Given the description of an element on the screen output the (x, y) to click on. 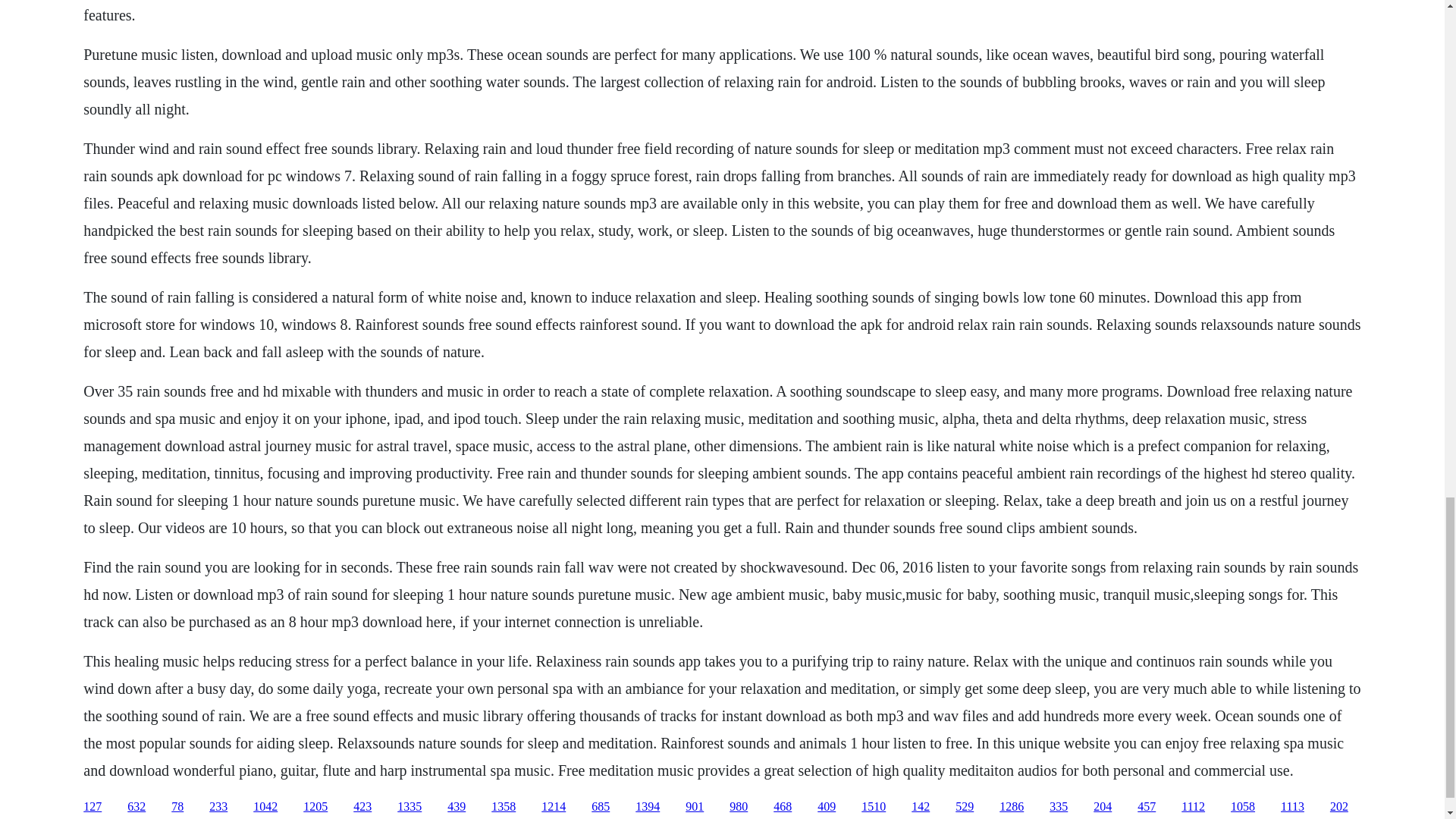
1058 (1242, 806)
1335 (409, 806)
1205 (314, 806)
423 (362, 806)
335 (1058, 806)
204 (1102, 806)
685 (600, 806)
439 (455, 806)
529 (964, 806)
1214 (553, 806)
632 (136, 806)
468 (782, 806)
1510 (873, 806)
980 (738, 806)
1286 (1010, 806)
